Given the description of an element on the screen output the (x, y) to click on. 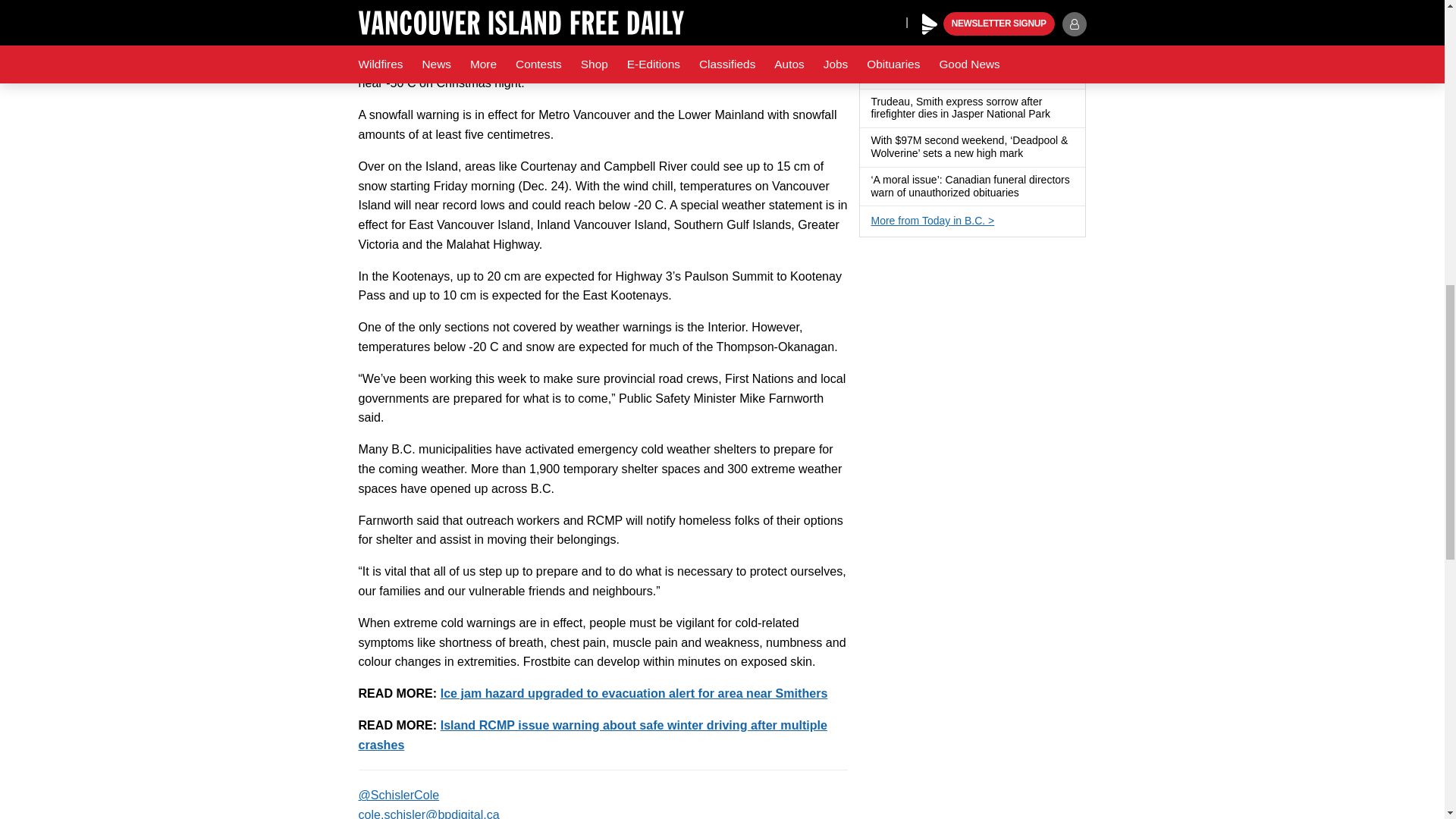
Has a gallery (1029, 75)
